Given the description of an element on the screen output the (x, y) to click on. 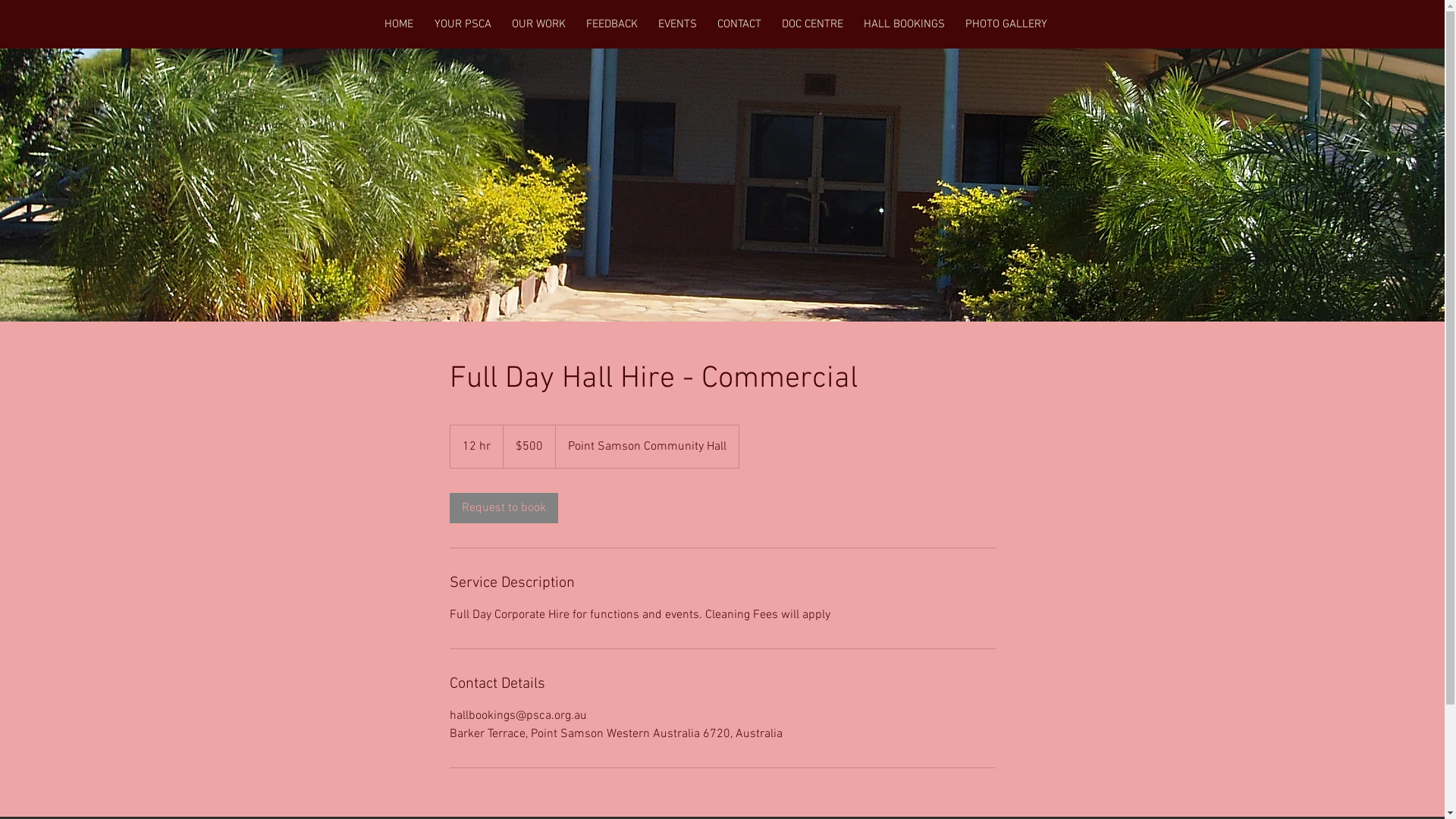
OUR WORK Element type: text (539, 24)
FEEDBACK Element type: text (612, 24)
DOC CENTRE Element type: text (812, 24)
YOUR PSCA Element type: text (462, 24)
HOME Element type: text (398, 24)
PHOTO GALLERY Element type: text (1006, 24)
EVENTS Element type: text (676, 24)
CONTACT Element type: text (738, 24)
Request to book Element type: text (502, 507)
HALL BOOKINGS Element type: text (904, 24)
